Given the description of an element on the screen output the (x, y) to click on. 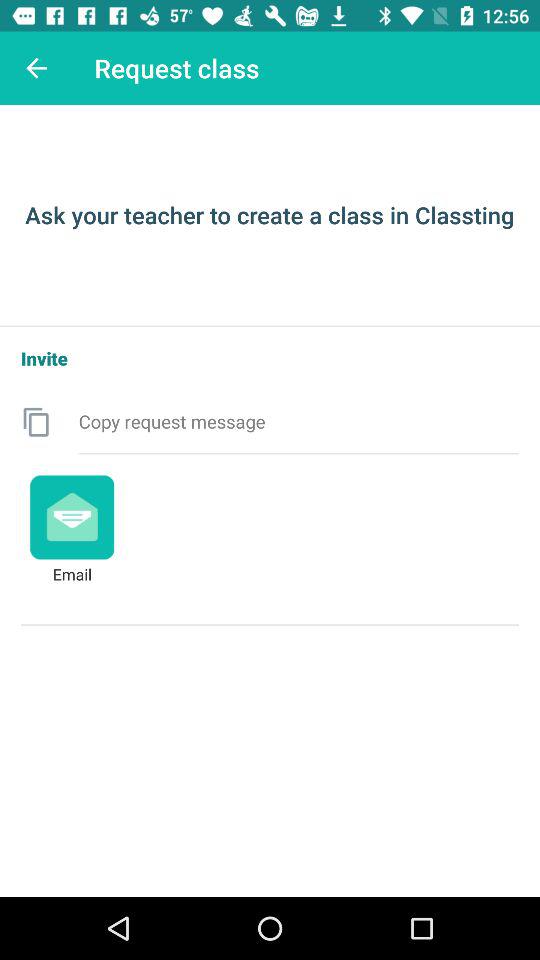
select the icon to the left of the request class (36, 68)
